Given the description of an element on the screen output the (x, y) to click on. 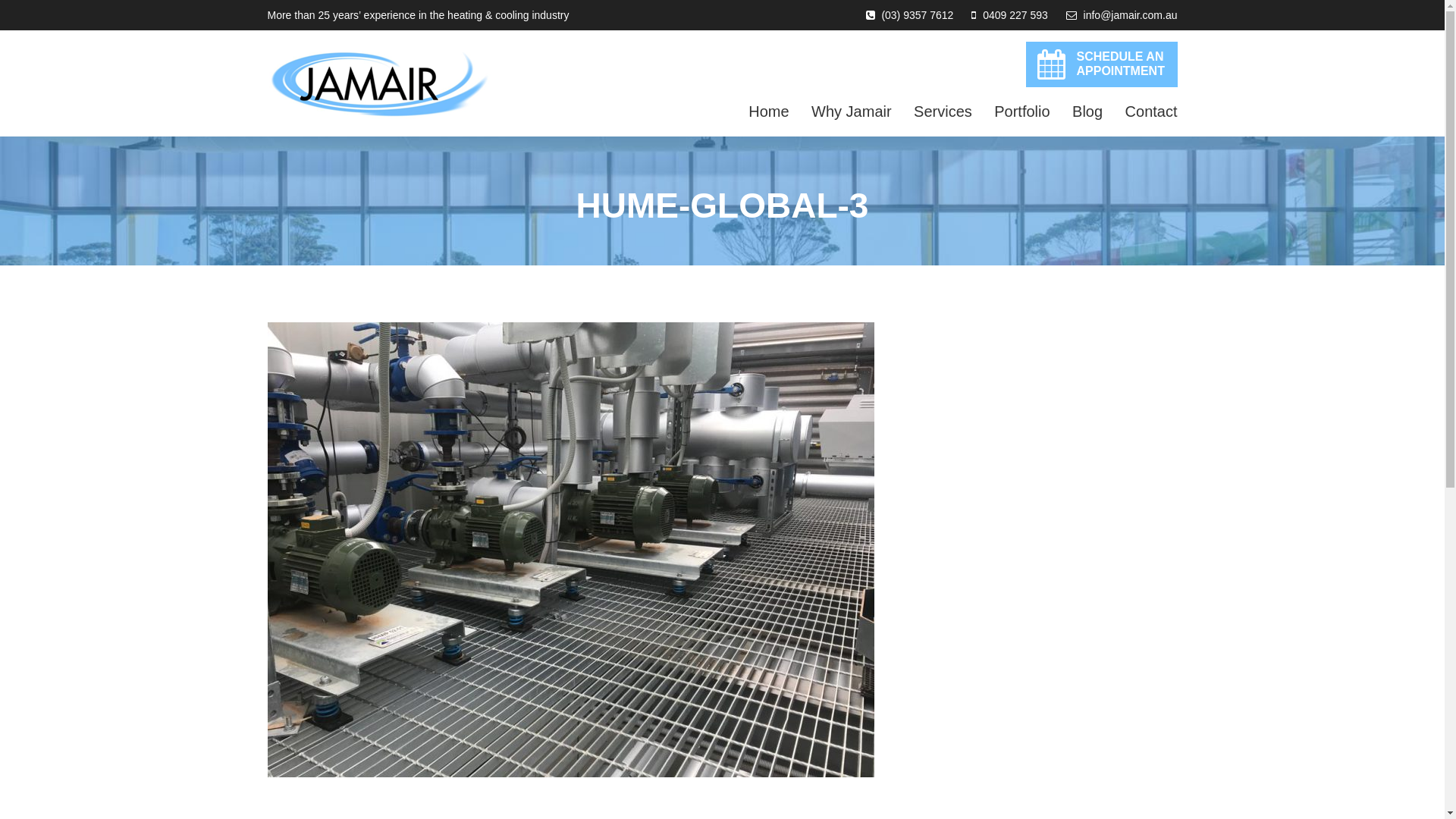
Blog Element type: text (1087, 111)
SCHEDULE AN APPOINTMENT Element type: text (1100, 64)
Why Jamair Element type: text (851, 111)
Home Element type: text (768, 111)
Portfolio Element type: text (1021, 111)
Contact Element type: text (1151, 111)
Services Element type: text (942, 111)
